Given the description of an element on the screen output the (x, y) to click on. 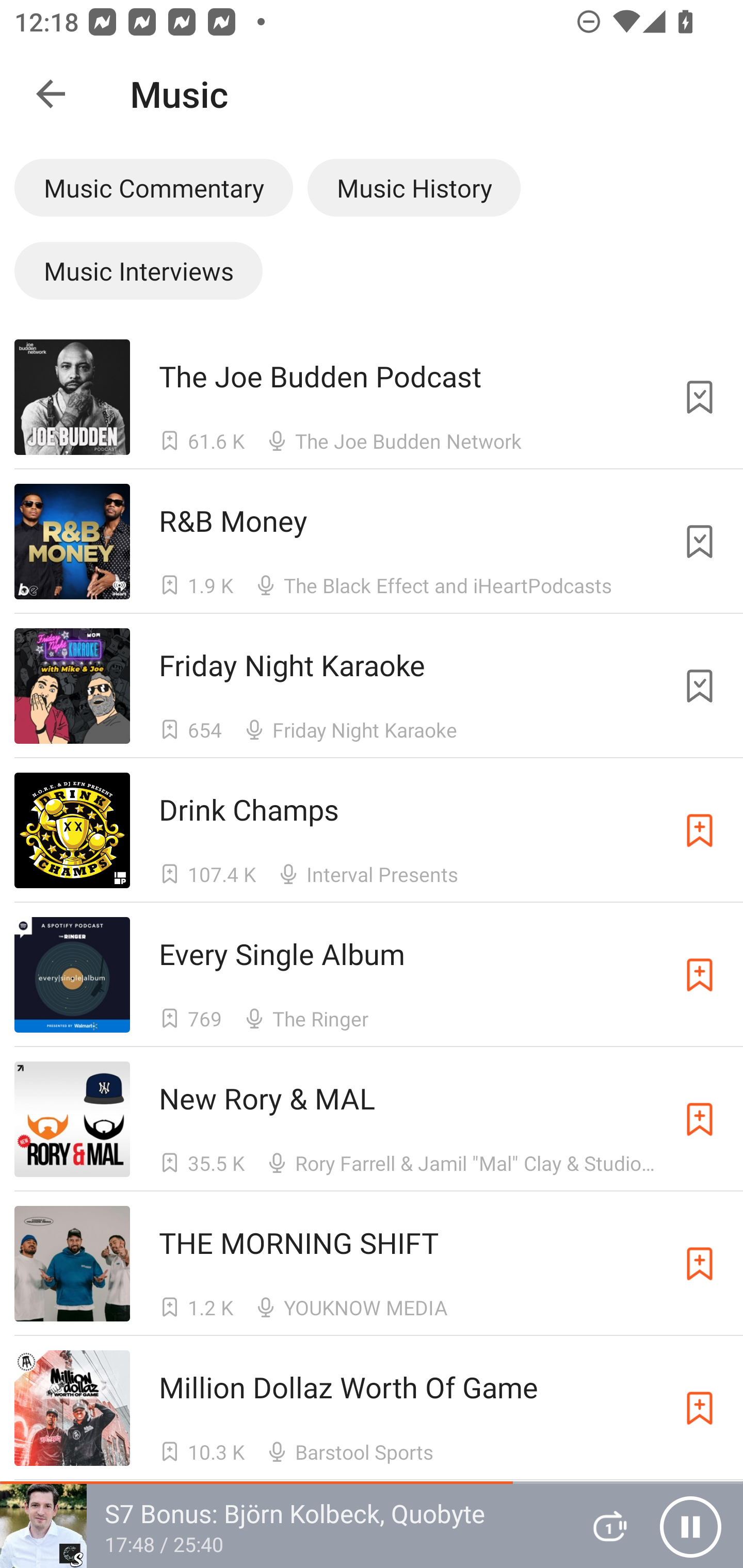
Navigate up (50, 93)
Music Commentary (153, 187)
Music History (413, 187)
Music Interviews (138, 270)
Unsubscribe (699, 396)
Unsubscribe (699, 541)
Unsubscribe (699, 685)
Subscribe (699, 830)
Subscribe (699, 975)
Subscribe (699, 1119)
Subscribe (699, 1263)
Subscribe (699, 1408)
S7 Bonus: Björn Kolbeck, Quobyte 17:48 / 25:40 (283, 1525)
Pause (690, 1526)
